Given the description of an element on the screen output the (x, y) to click on. 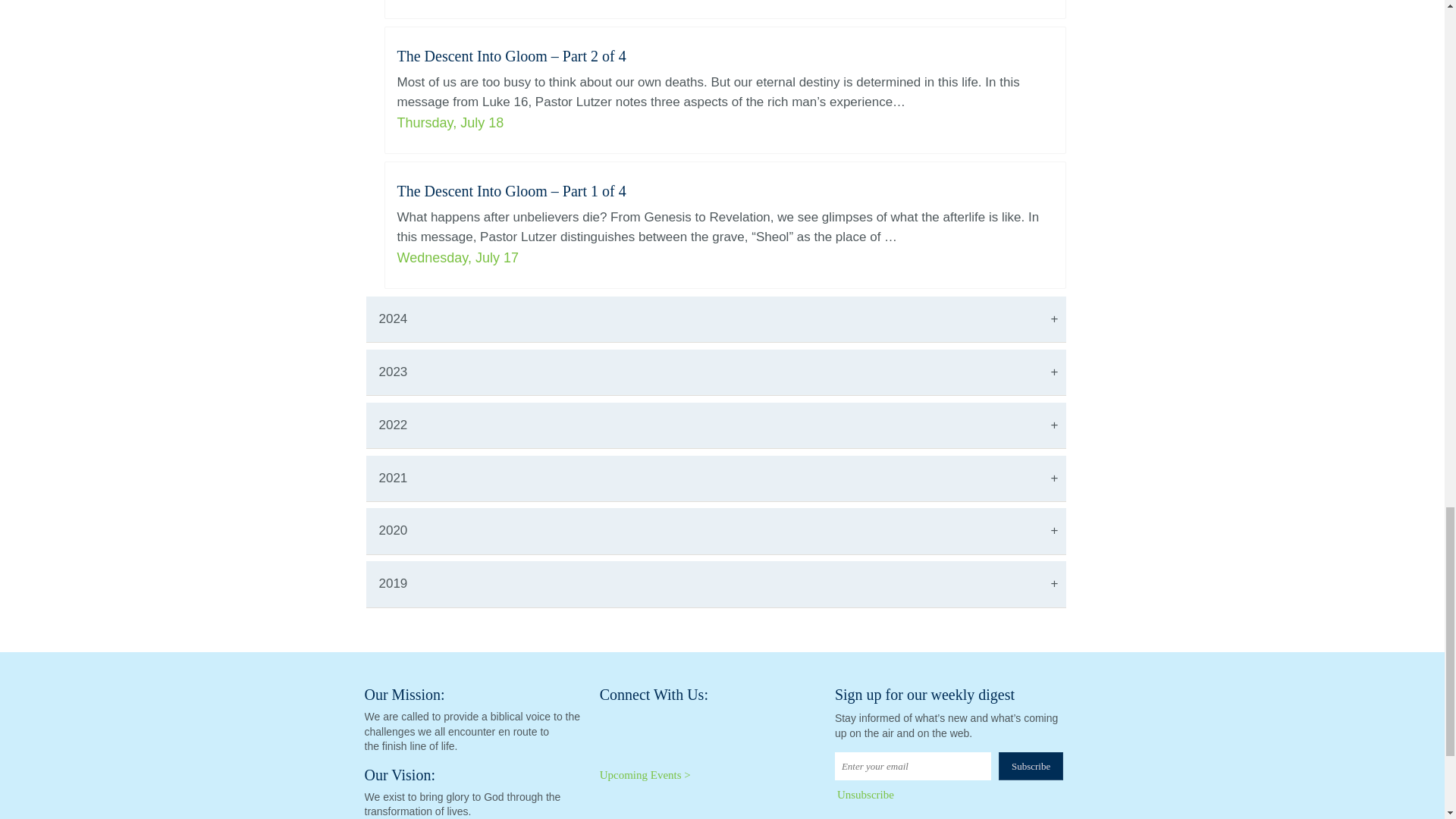
Enter your email (912, 766)
Subscribe (1030, 766)
